Given the description of an element on the screen output the (x, y) to click on. 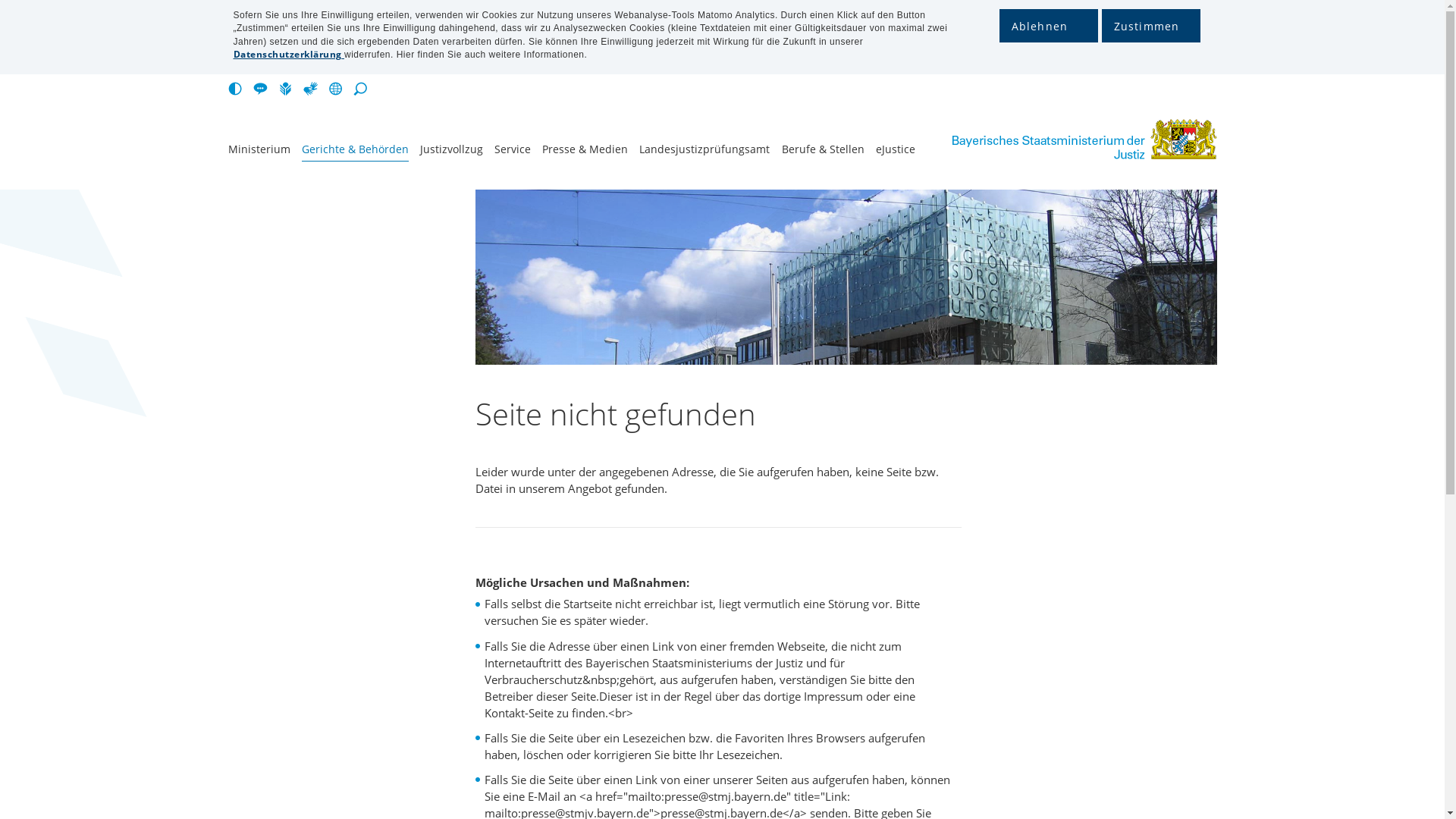
Ministerium Element type: text (258, 152)
Service Element type: text (512, 152)
eJustice Element type: text (895, 152)
Leichte Sprache Element type: hover (288, 88)
Sprachen Element type: hover (338, 88)
Fehler 404 - Bayerisches Staatsministerium der Justiz Element type: hover (1062, 138)
Seite vorlesen lassen [Alt-L] Element type: hover (264, 88)
Ablehnen Element type: text (1048, 25)
Zustimmen Element type: text (1150, 25)
Berufe & Stellen Element type: text (822, 152)
Presse & Medien Element type: text (584, 152)
